Given the description of an element on the screen output the (x, y) to click on. 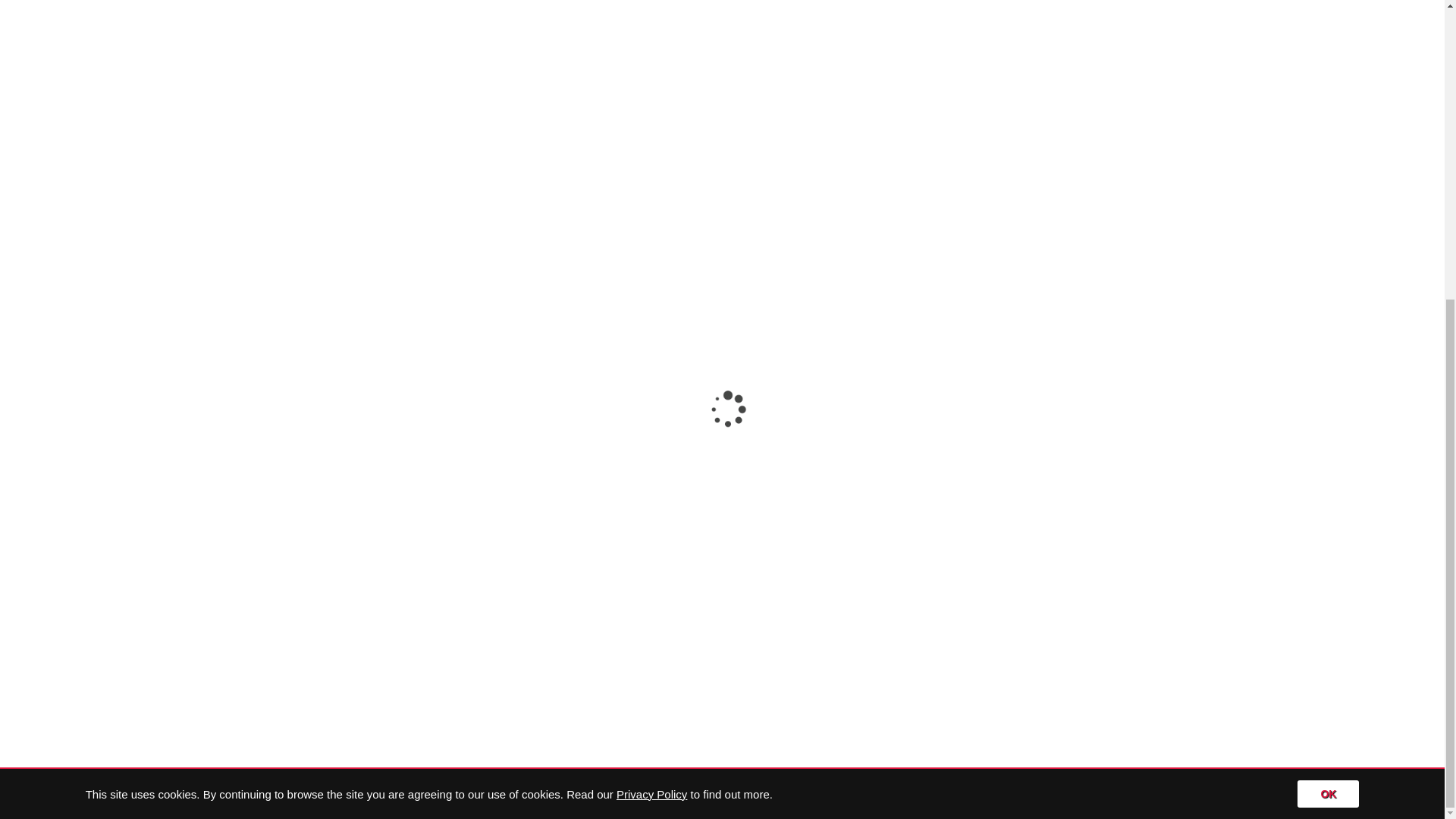
INTERSTELLAR MATTER (1008, 502)
HI region (215, 6)
ASTROPHYSICAL PHENOMENA (1028, 516)
